Given the description of an element on the screen output the (x, y) to click on. 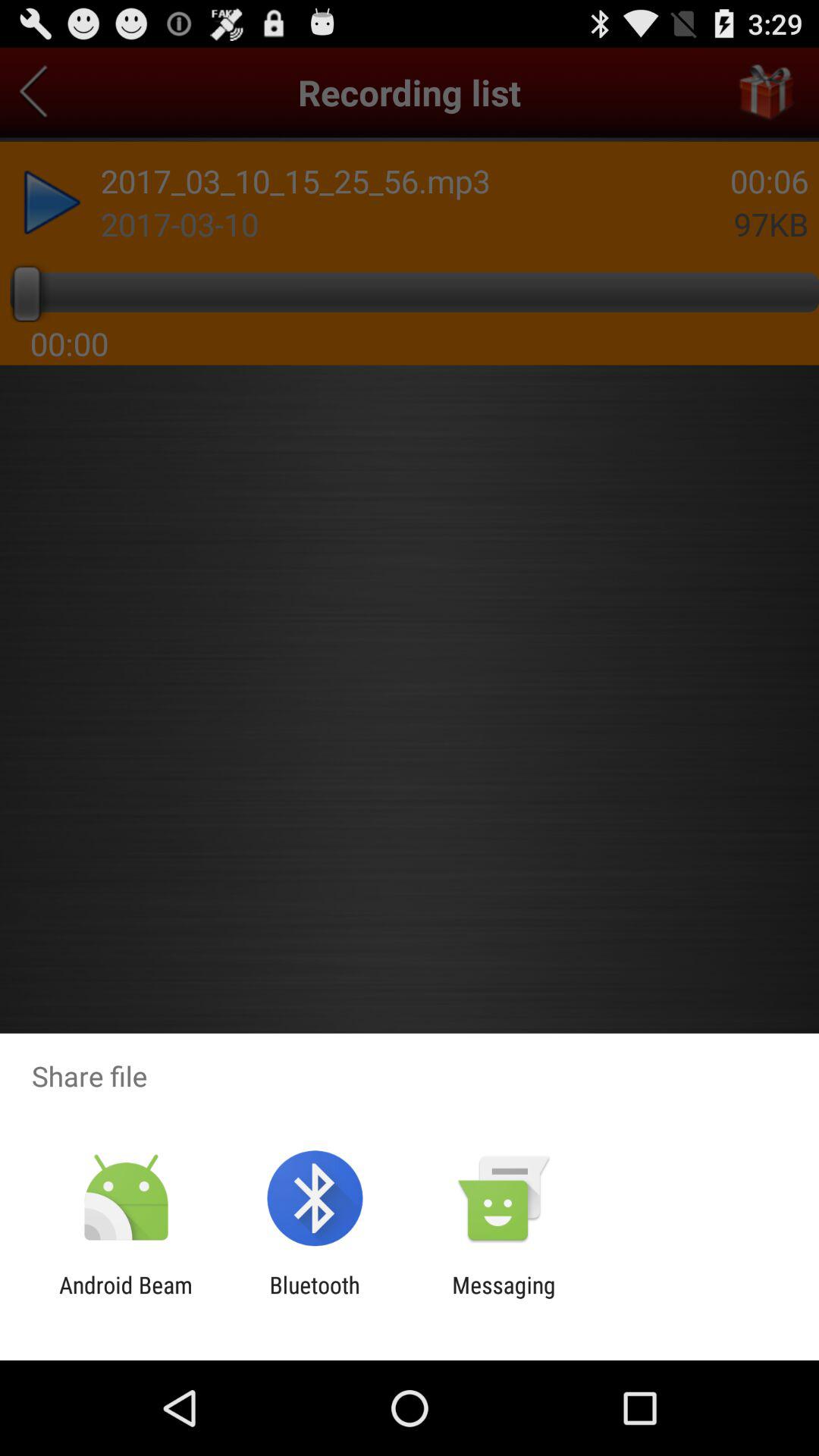
swipe to bluetooth icon (314, 1298)
